Given the description of an element on the screen output the (x, y) to click on. 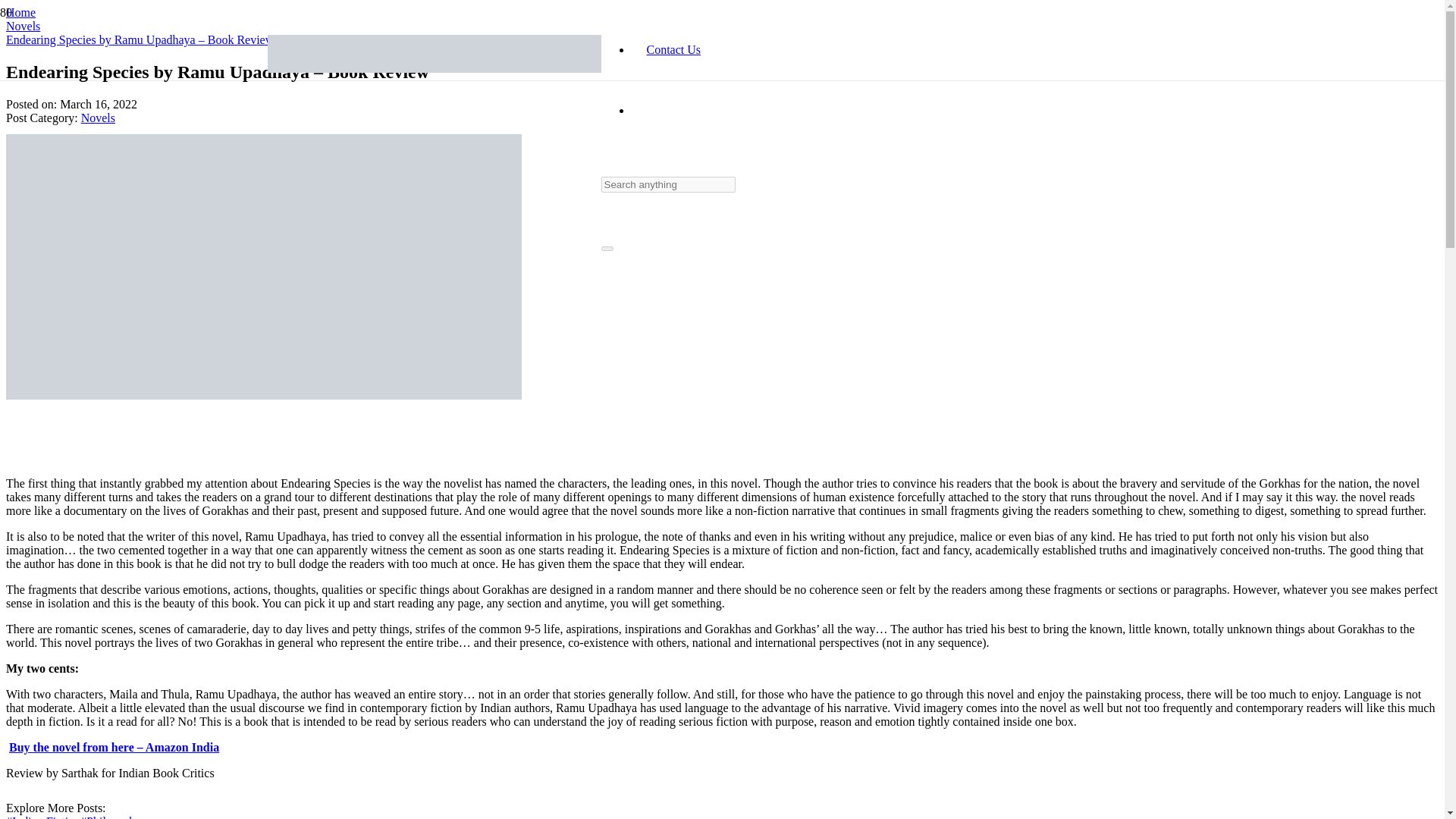
Contact Us (673, 49)
Novels (98, 117)
Novels (22, 25)
Home (19, 11)
